Given the description of an element on the screen output the (x, y) to click on. 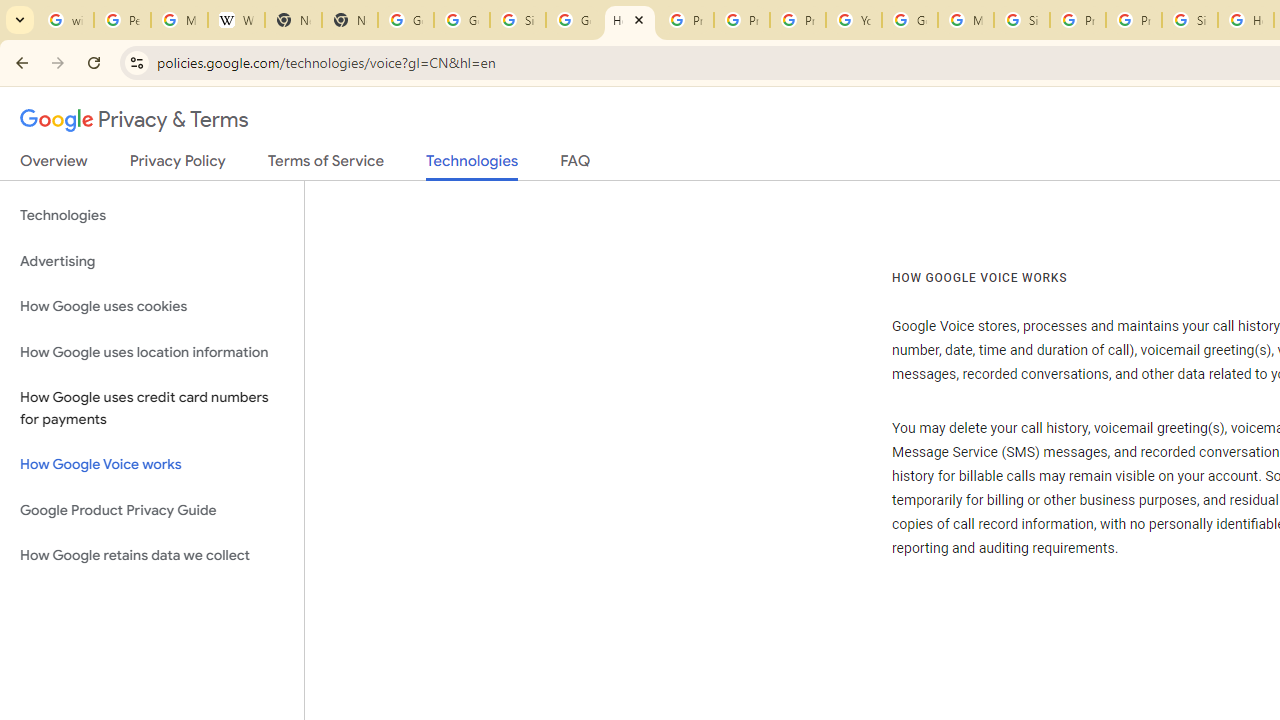
Advertising (152, 261)
Sign in - Google Accounts (518, 20)
Google Account Help (909, 20)
New Tab (293, 20)
Google Drive: Sign-in (461, 20)
